Given the description of an element on the screen output the (x, y) to click on. 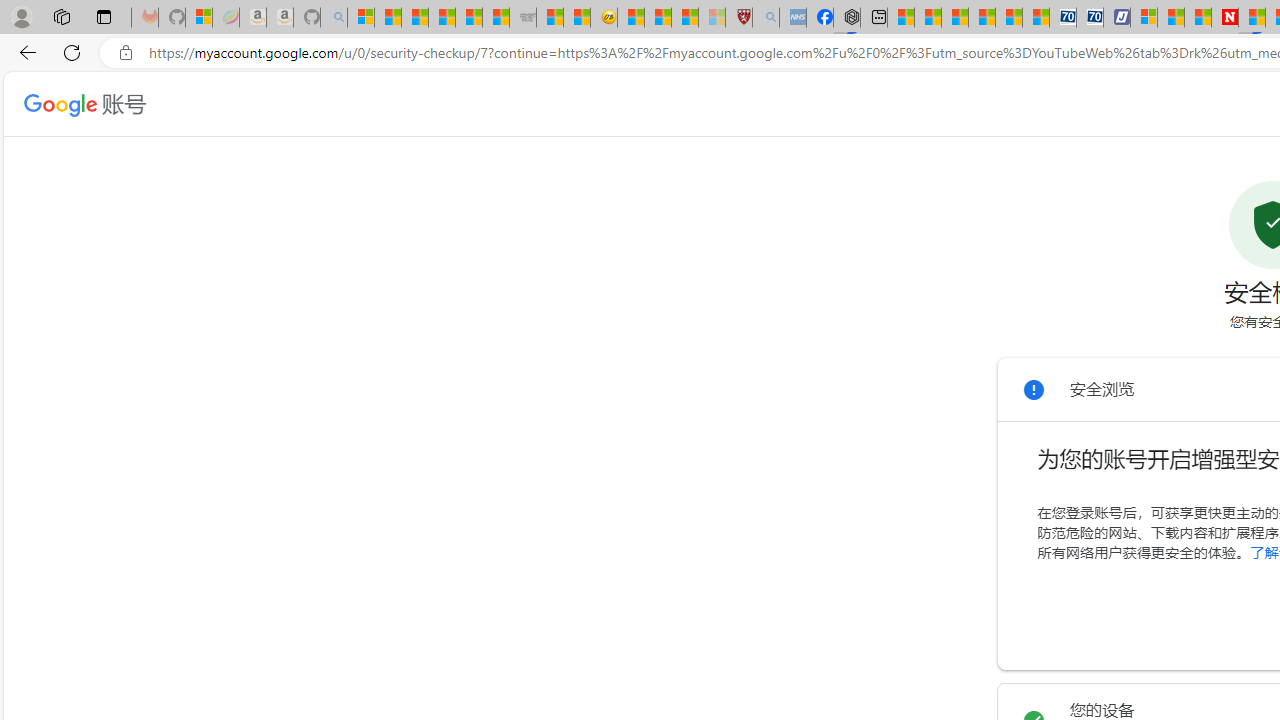
Robert H. Shmerling, MD - Harvard Health (738, 17)
Newsweek - News, Analysis, Politics, Business, Technology (1224, 17)
